Given the description of an element on the screen output the (x, y) to click on. 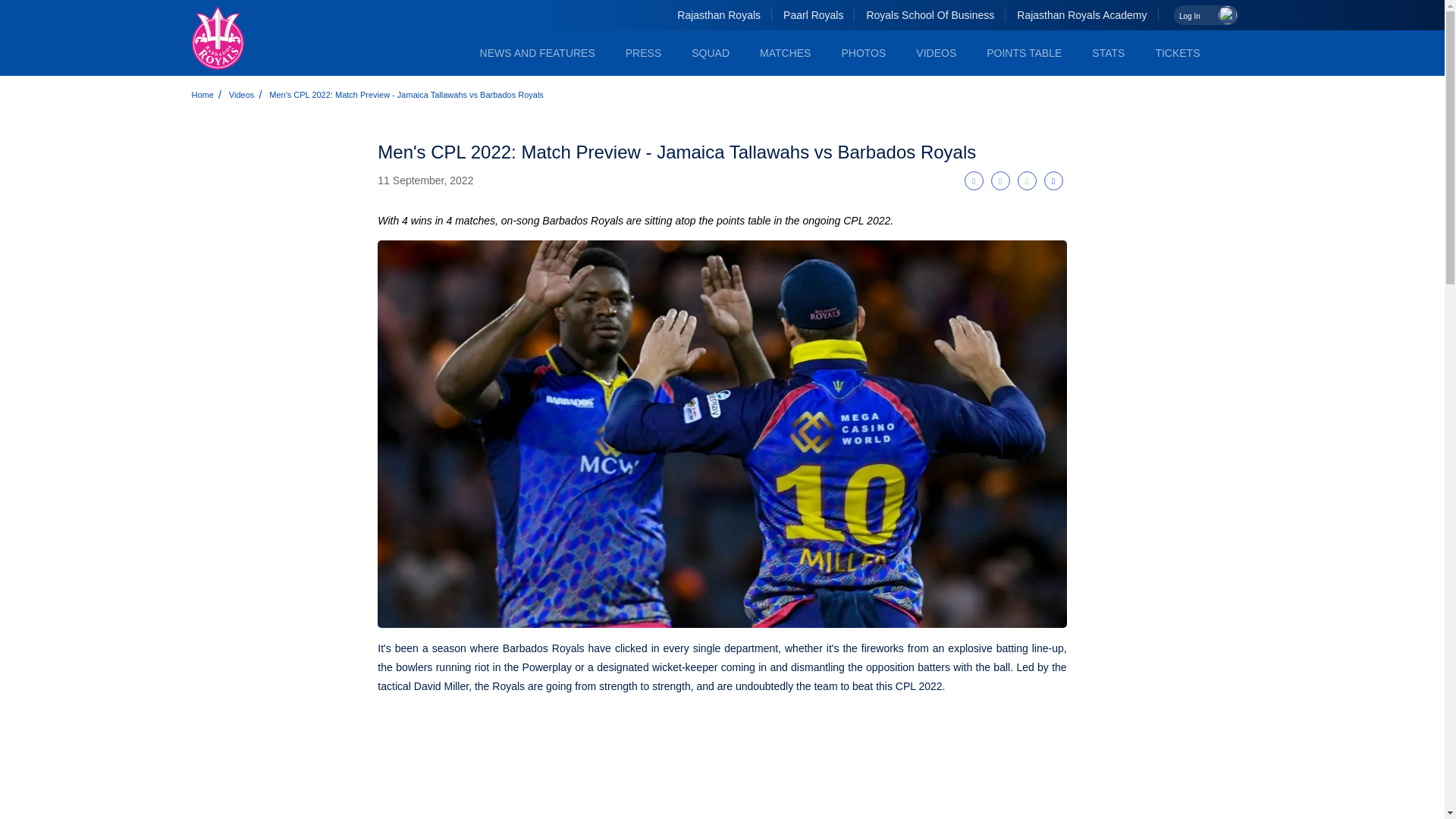
Rajasthan Royals Academy (1081, 15)
Videos (240, 94)
Photos (863, 52)
TICKETS (1176, 52)
Log In (1206, 14)
Share on WhatsApp (1026, 180)
Paarl Royals (813, 15)
Share on Twitter (1000, 180)
Copy Link (1052, 180)
VIDEOS (935, 52)
